Given the description of an element on the screen output the (x, y) to click on. 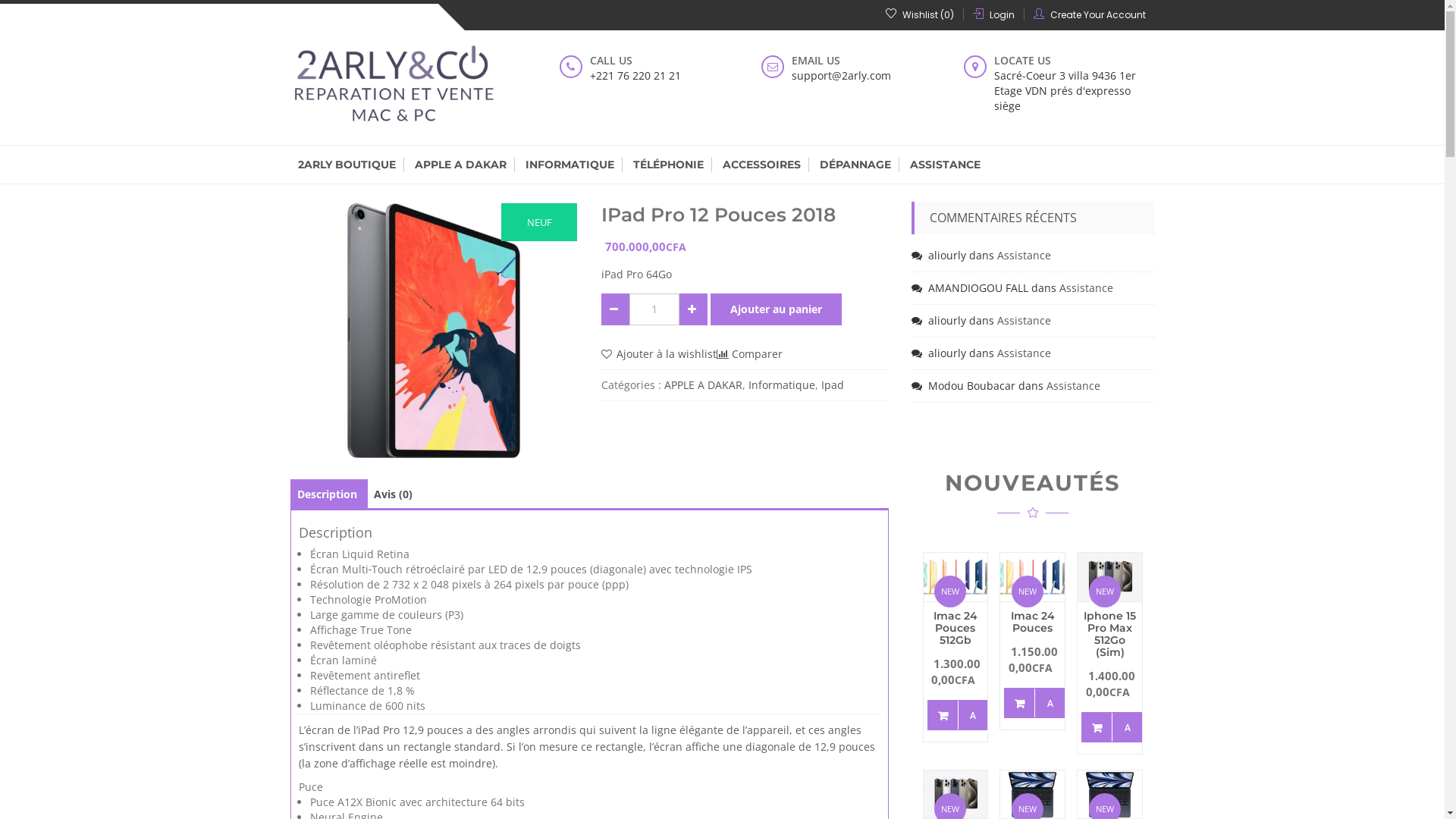
Informatique Element type: text (781, 384)
Imac 24 Pouces 512Gb Element type: text (954, 627)
  Element type: text (693, 309)
Comparer Element type: text (749, 353)
AJOUTER AU PANIER Element type: text (957, 714)
2ARLY BOUTIQUE Element type: text (346, 164)
Imac 24 Pouces Element type: text (1032, 621)
+221 76 220 21 21 Element type: text (664, 75)
Assistance Element type: text (1023, 254)
APPLE A DAKAR Element type: text (460, 164)
Create Your Account Element type: text (1097, 14)
APPLE A DAKAR Element type: text (703, 384)
Assistance Element type: text (1073, 385)
Avis (0) Element type: text (392, 494)
Description Element type: text (327, 494)
Ipad Element type: text (832, 384)
Login Element type: text (1000, 14)
ACCESSOIRES Element type: text (761, 164)
  Element type: text (615, 309)
ASSISTANCE Element type: text (945, 164)
Ajouter au panier Element type: text (775, 309)
AJOUTER AU PANIER Element type: text (1111, 727)
INFORMATIQUE Element type: text (569, 164)
AJOUTER AU PANIER Element type: text (1034, 702)
ipad pro 2018 Element type: hover (433, 330)
Iphone 15 Pro Max 512Go (Sim) Element type: text (1109, 633)
Assistance Element type: text (1023, 320)
Wishlist (0) Element type: text (919, 14)
Assistance Element type: text (1023, 352)
Assistance Element type: text (1085, 287)
support@2arly.com Element type: text (866, 75)
Qty Element type: hover (654, 309)
